Given the description of an element on the screen output the (x, y) to click on. 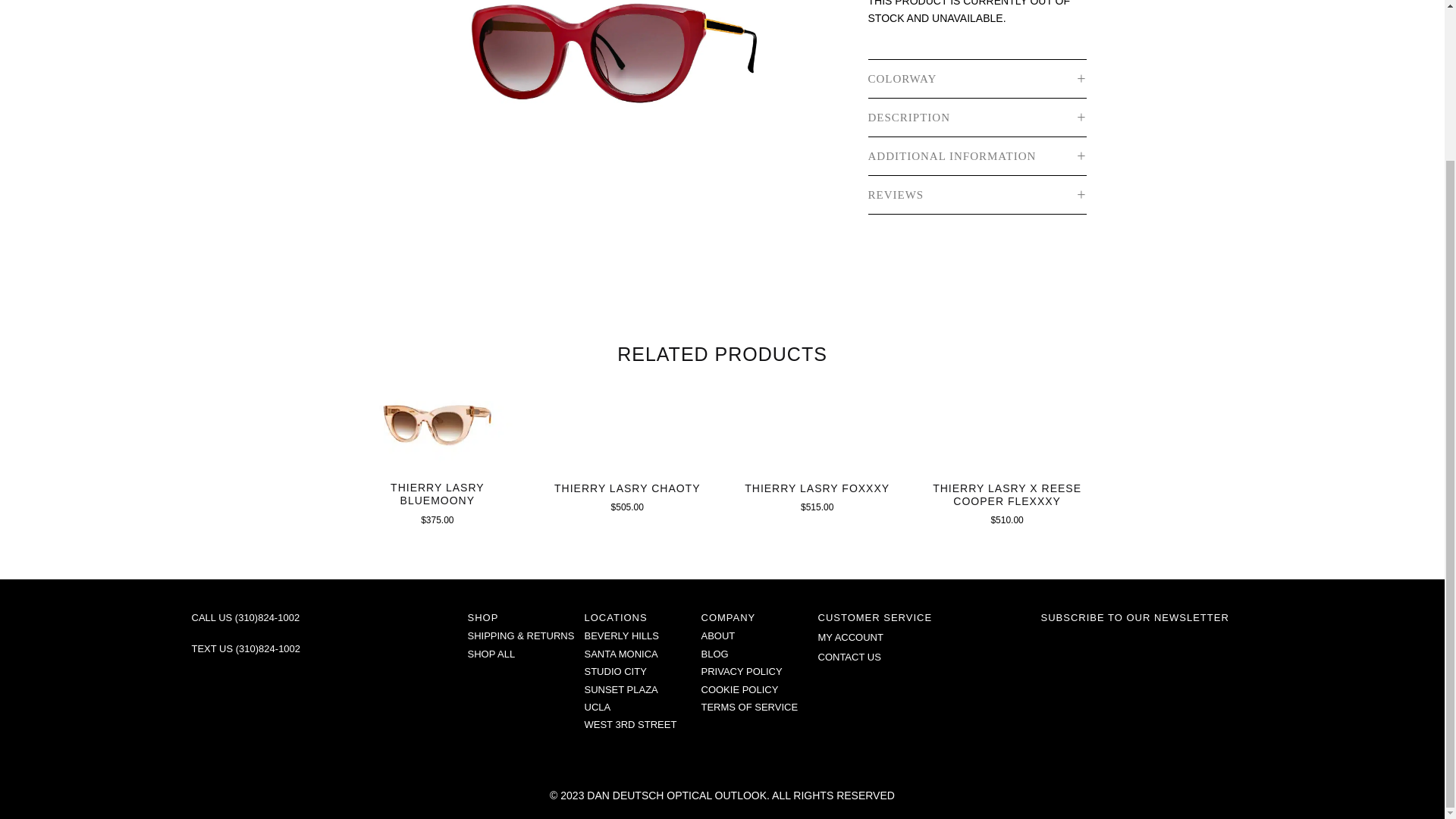
Thierry Lasry Dirtymindy in Burgundy Red (594, 92)
